Given the description of an element on the screen output the (x, y) to click on. 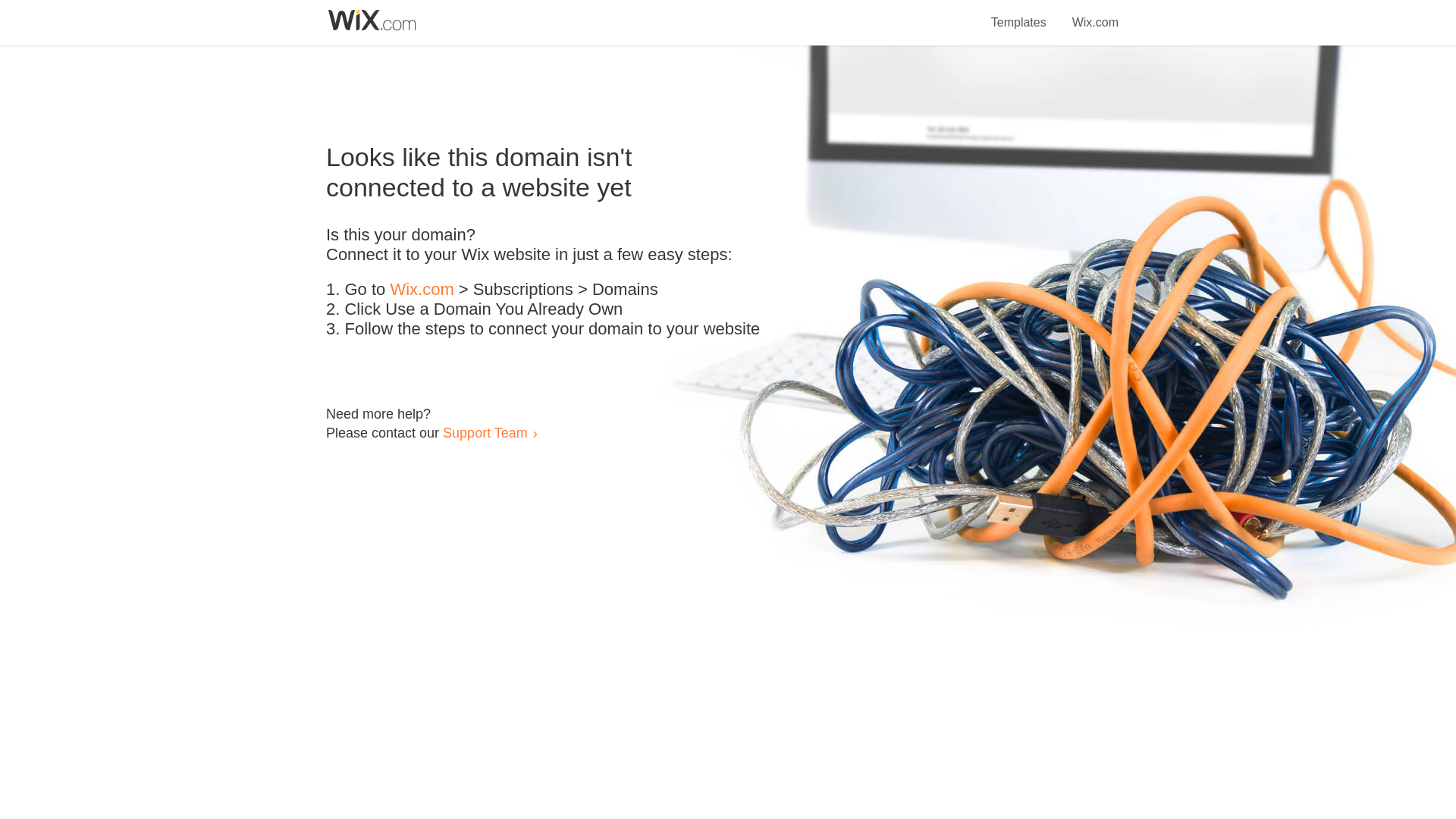
Wix.com (421, 289)
Wix.com (1095, 14)
Templates (1018, 14)
Support Team (484, 432)
